Given the description of an element on the screen output the (x, y) to click on. 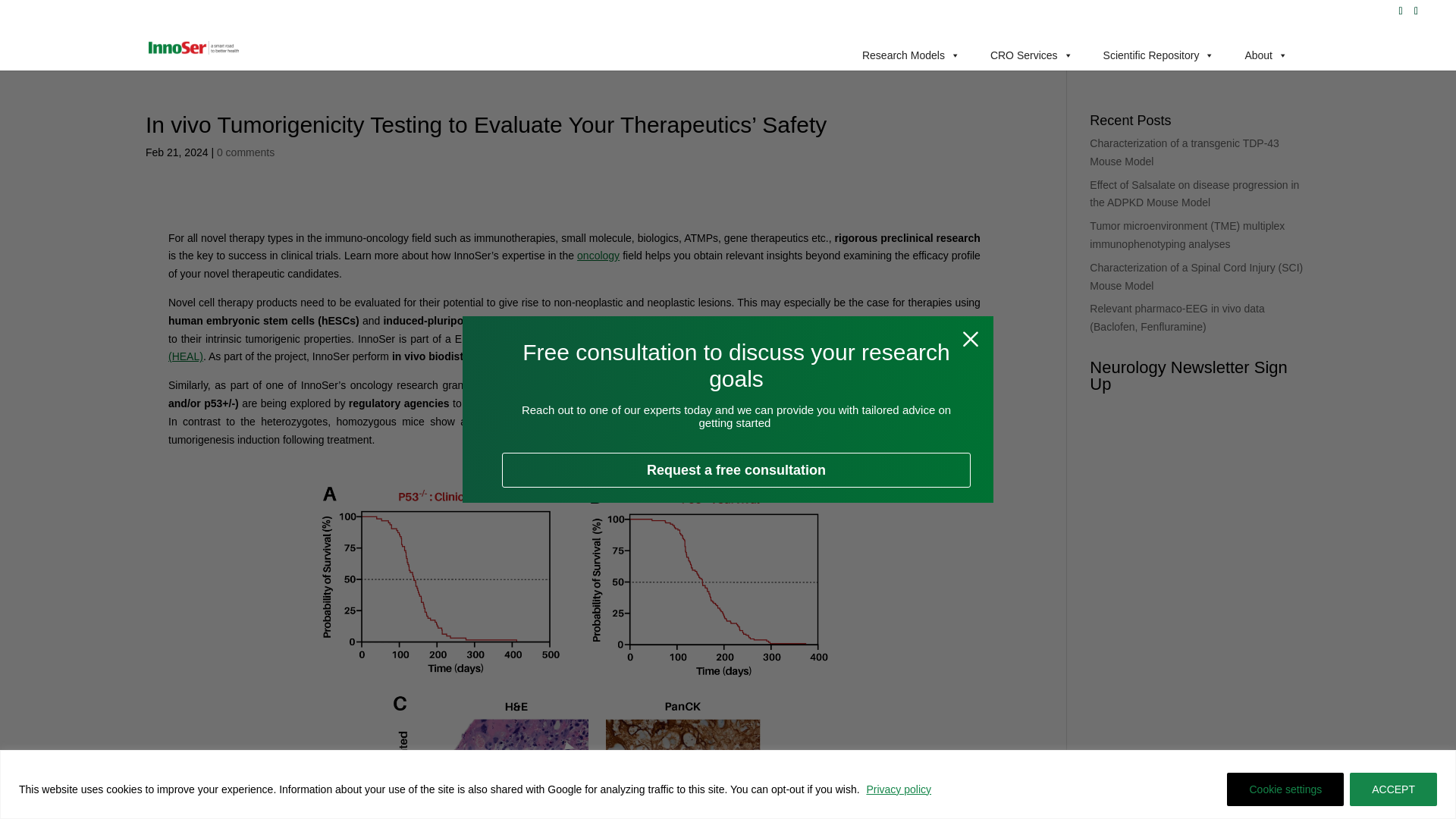
Cookie settings (1285, 788)
Privacy policy (897, 789)
Popup CTA (727, 409)
Research Models (911, 54)
CRO Services (1031, 54)
ACCEPT (1393, 788)
